Given the description of an element on the screen output the (x, y) to click on. 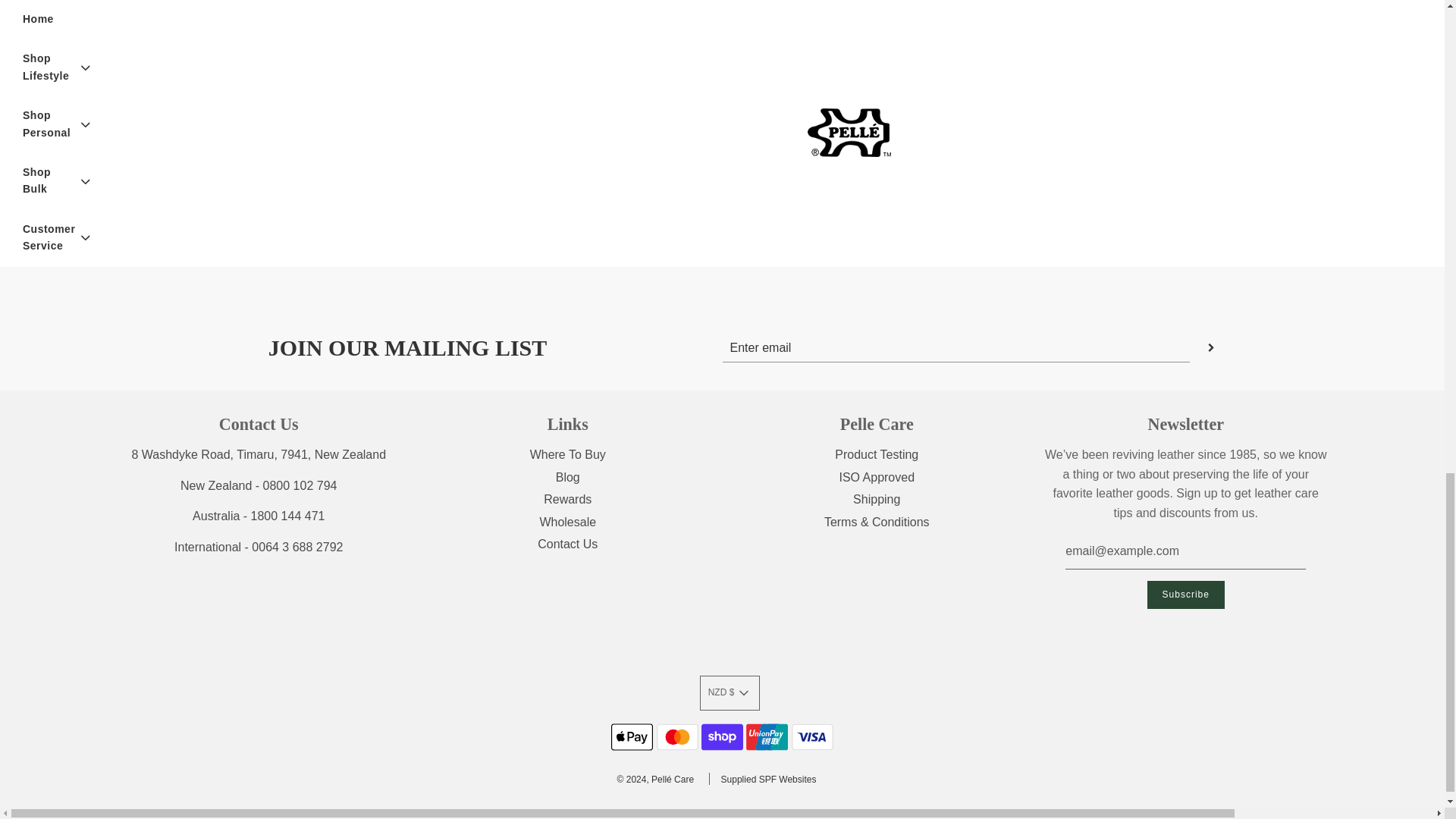
Subscribe (1185, 594)
Visa (812, 736)
Shop Pay (721, 736)
Apple Pay (631, 736)
Mastercard (677, 736)
Union Pay (766, 736)
SPF (768, 778)
